Given the description of an element on the screen output the (x, y) to click on. 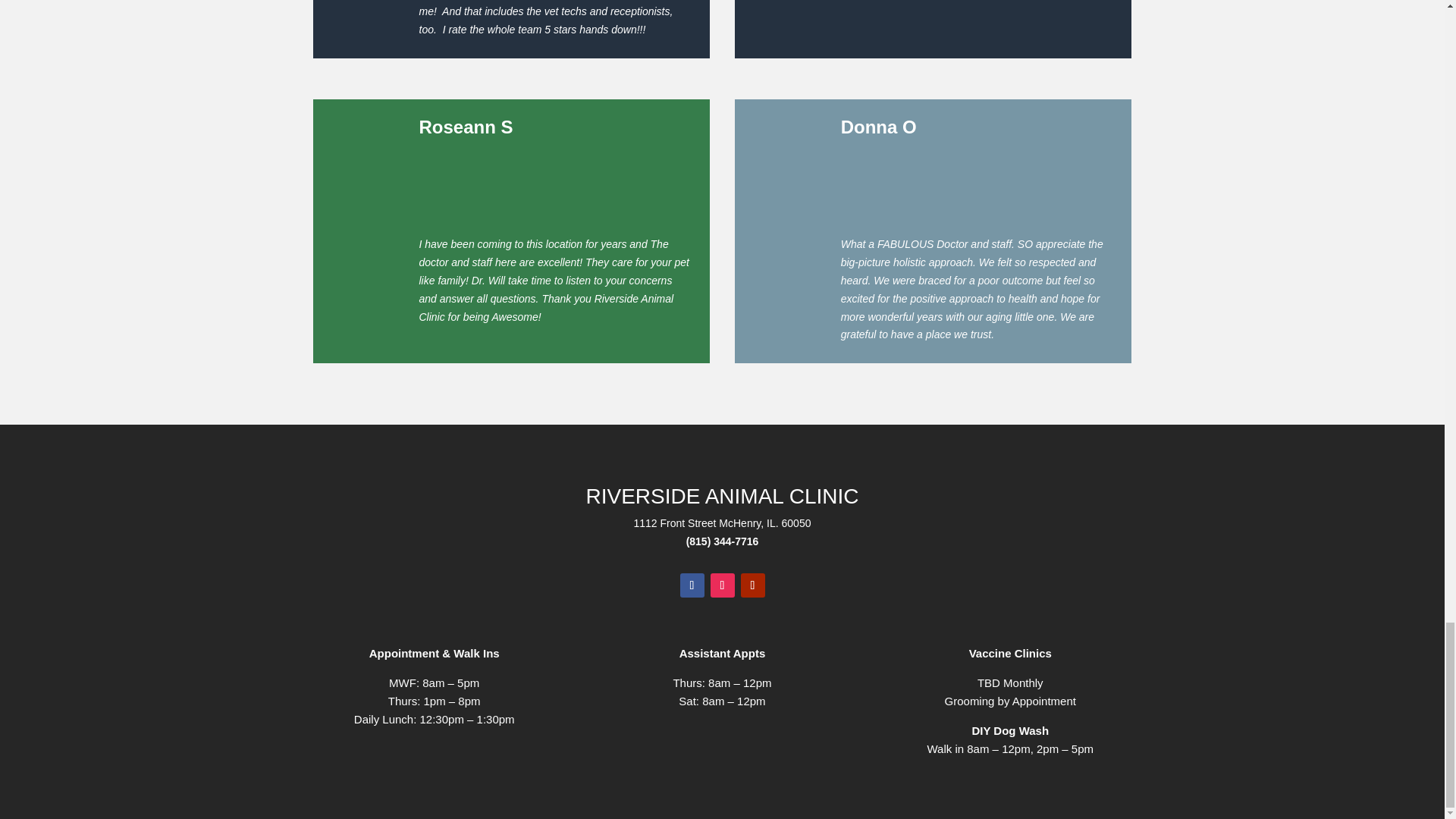
Follow on Youtube (751, 585)
Follow on Facebook (691, 585)
Follow on Instagram (721, 585)
